Given the description of an element on the screen output the (x, y) to click on. 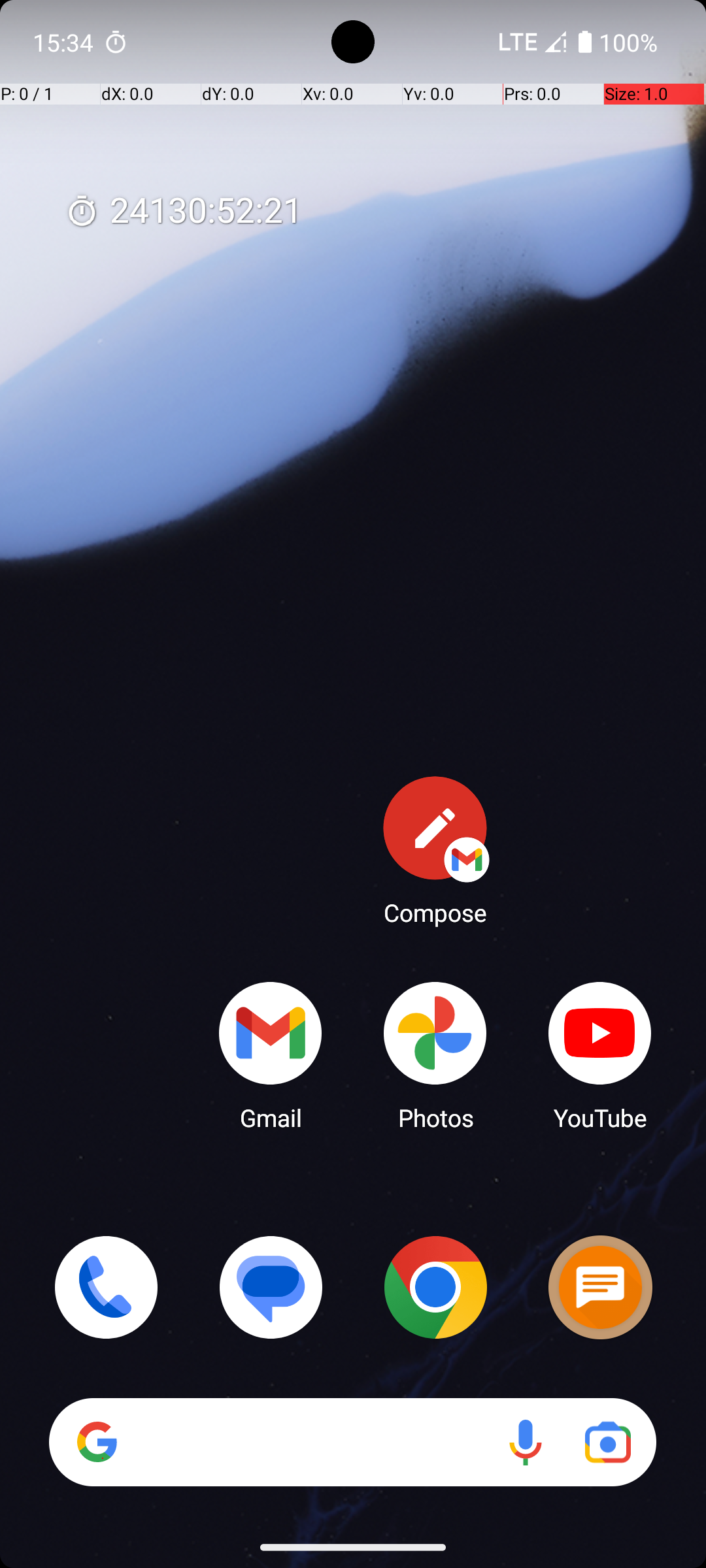
24130:52:21 Element type: android.widget.TextView (183, 210)
Compose Element type: android.widget.TextView (435, 849)
